Given the description of an element on the screen output the (x, y) to click on. 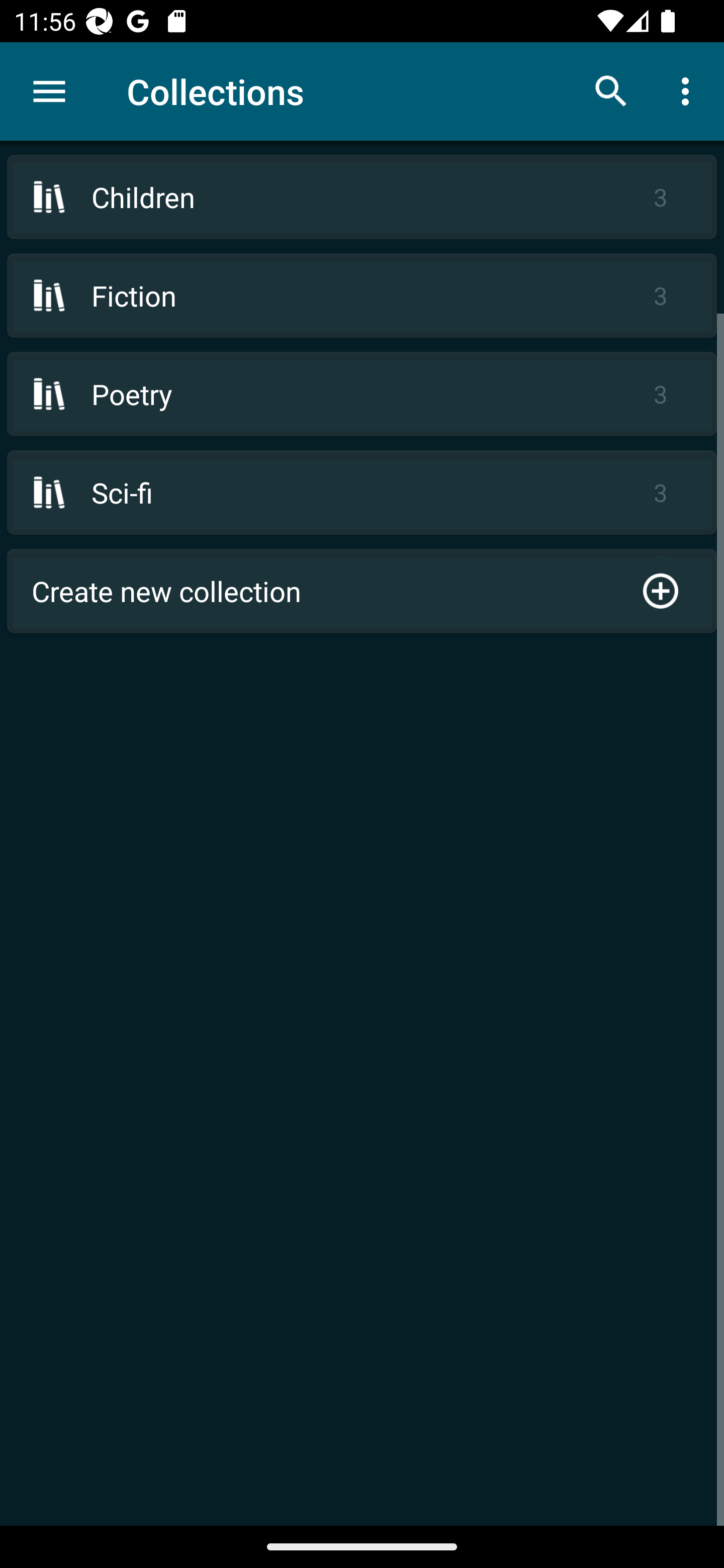
Menu (49, 91)
Search books & documents (611, 90)
More options (688, 90)
Children 3 (361, 197)
Fiction 3 (361, 295)
Poetry 3 (361, 393)
Sci-fi 3 (361, 492)
Create new collection (361, 590)
